Given the description of an element on the screen output the (x, y) to click on. 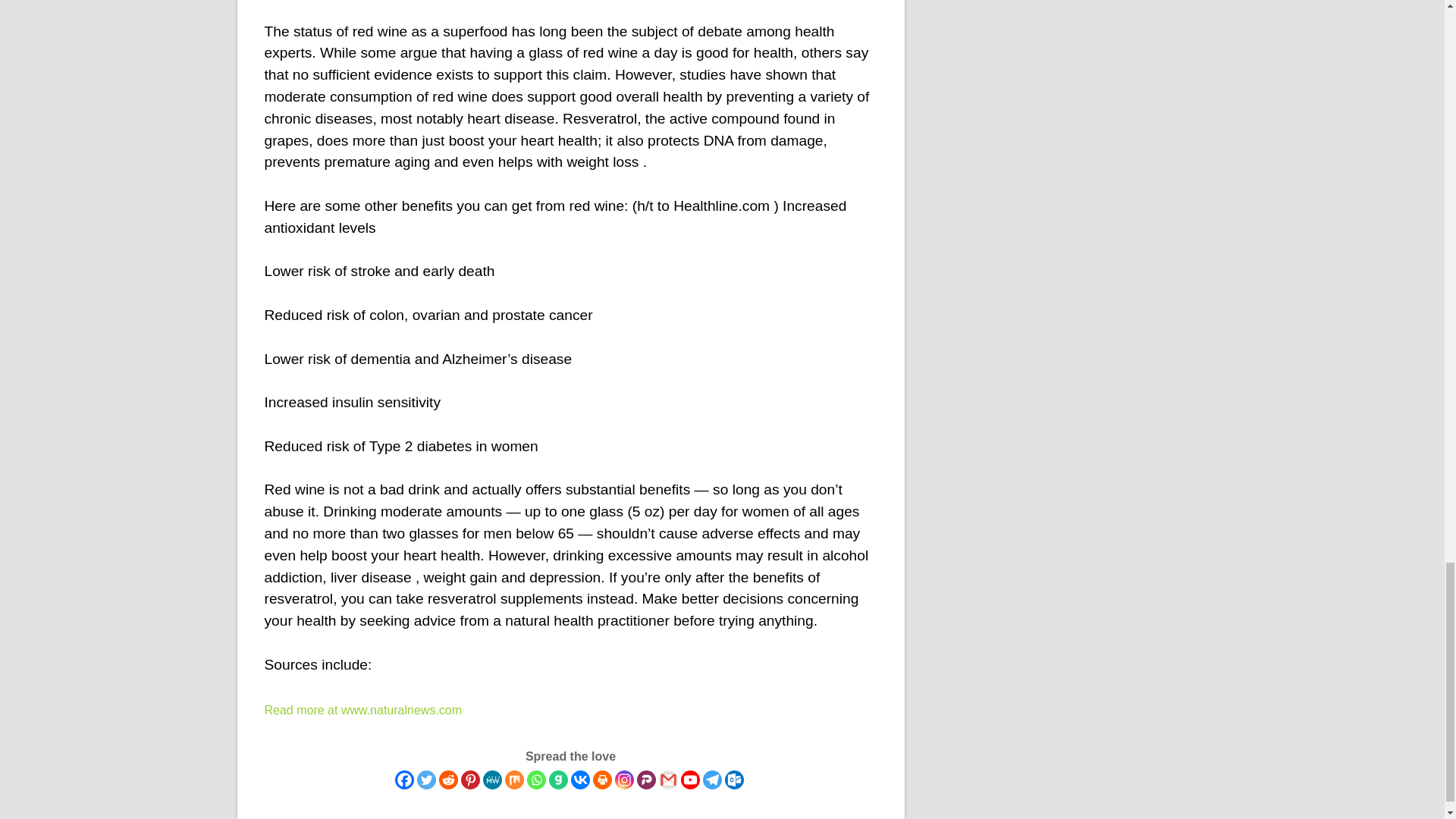
Read more at www.naturalnews.com (362, 709)
Whatsapp (534, 779)
Parler (646, 779)
Facebook (403, 779)
Instagram (623, 779)
Twitter (425, 779)
Mix (514, 779)
Reddit (447, 779)
Vkontakte (579, 779)
Gab (557, 779)
